Given the description of an element on the screen output the (x, y) to click on. 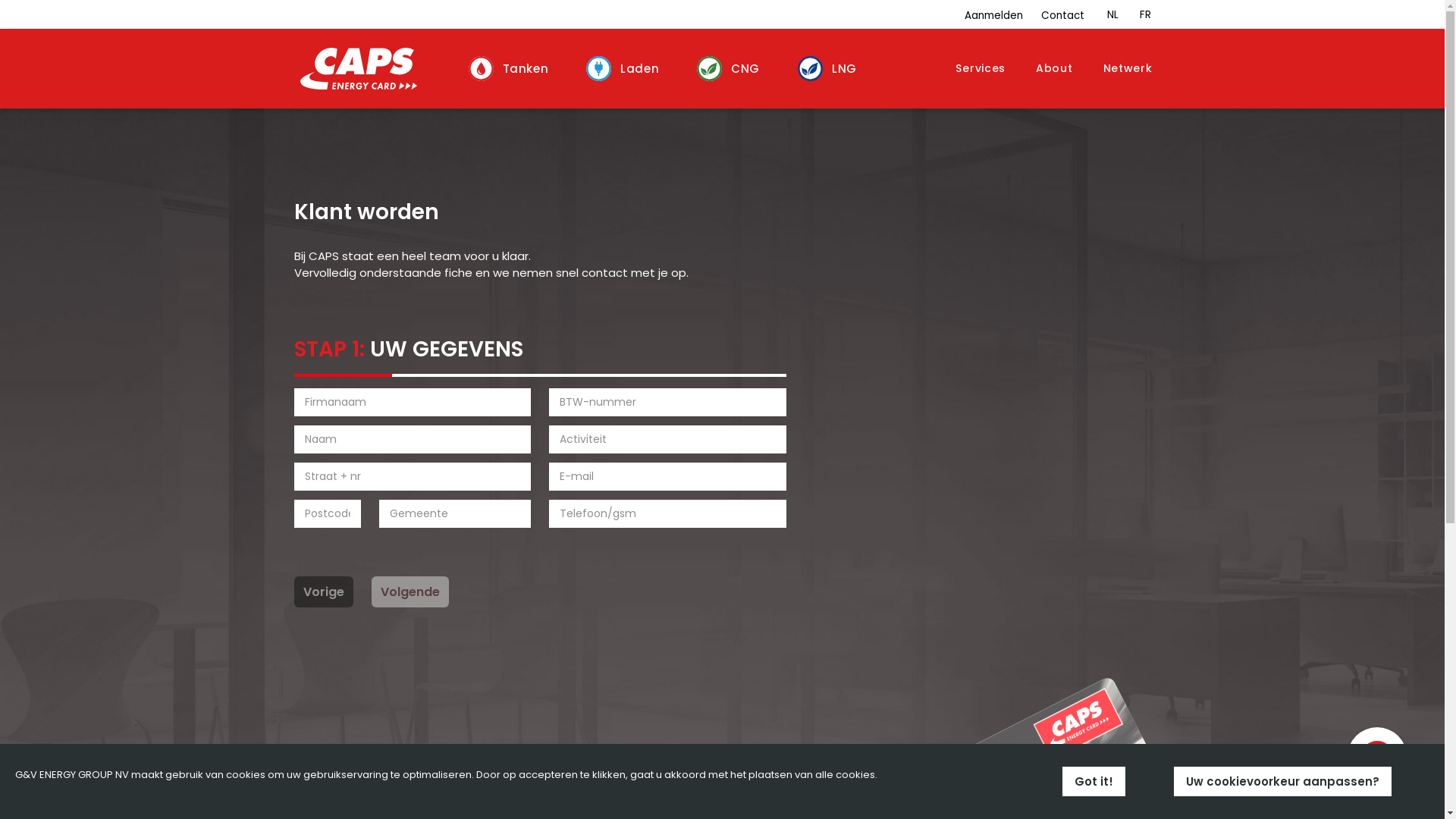
Got it! Element type: text (1093, 781)
FR Element type: text (1144, 14)
CNG Element type: text (733, 68)
Uw cookievoorkeur aanpassen? Element type: text (1282, 781)
Aanmelden Element type: text (993, 15)
Laden Element type: text (628, 68)
NL Element type: text (1112, 14)
tankkaart Element type: hover (1031, 738)
Tanken Element type: text (514, 68)
LNG Element type: text (833, 68)
Netwerk Element type: text (1127, 68)
Contact Element type: text (1061, 15)
Volgende Element type: text (409, 591)
Vorige Element type: text (323, 591)
About Element type: text (1054, 68)
Services Element type: text (980, 68)
